Given the description of an element on the screen output the (x, y) to click on. 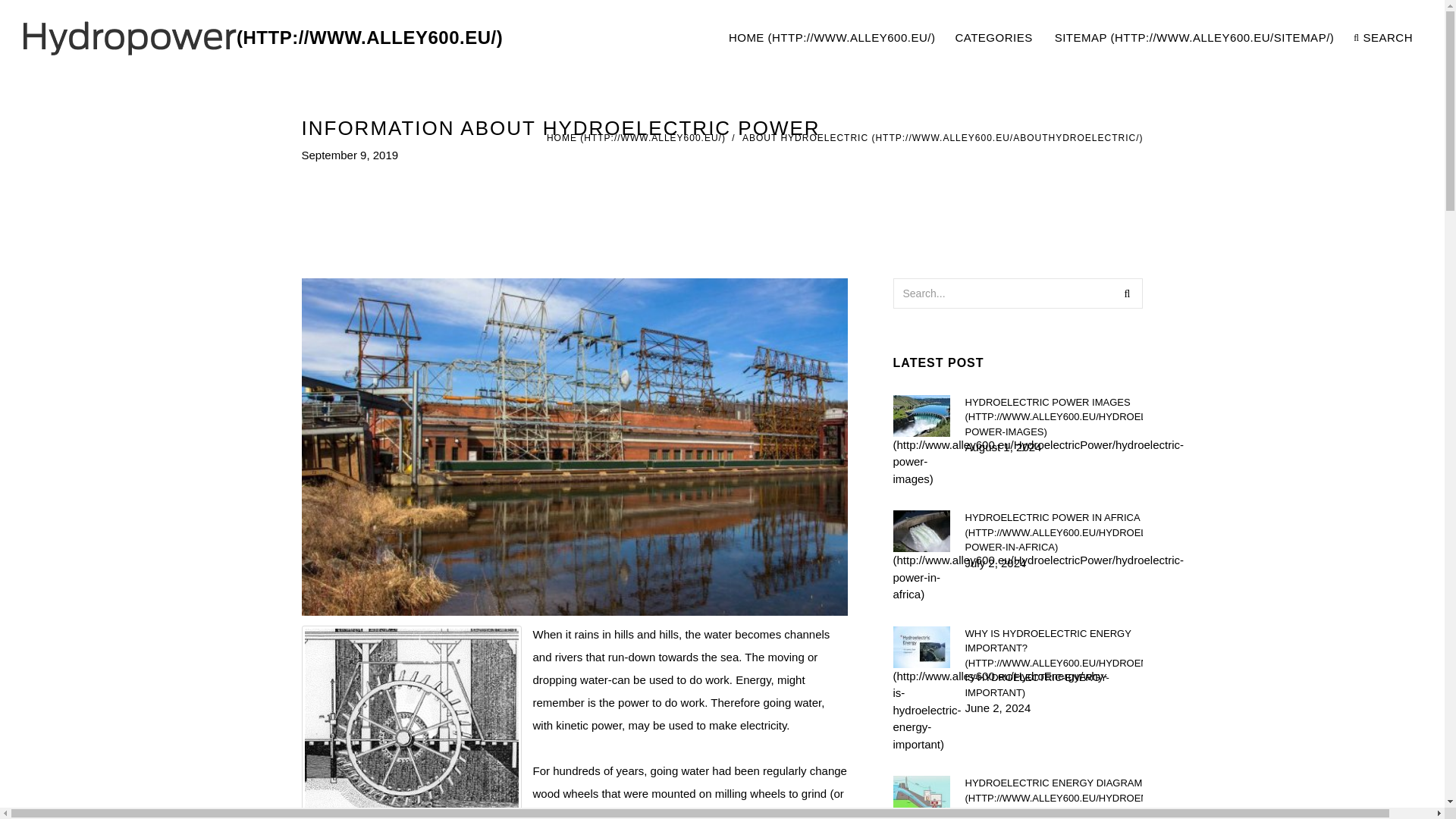
ABOUT HYDROELECTRIC (942, 137)
CATEGORIES (993, 38)
WHY IS HYDROELECTRIC ENERGY IMPORTANT? (1052, 663)
Hydropower (262, 38)
HYDROELECTRIC POWER IMAGES (1052, 415)
HYDROELECTRIC POWER IN AFRICA (1052, 532)
SITEMAP (1194, 38)
HOME (1069, 38)
HYDROELECTRIC ENERGY DIAGRAM (831, 38)
